Given the description of an element on the screen output the (x, y) to click on. 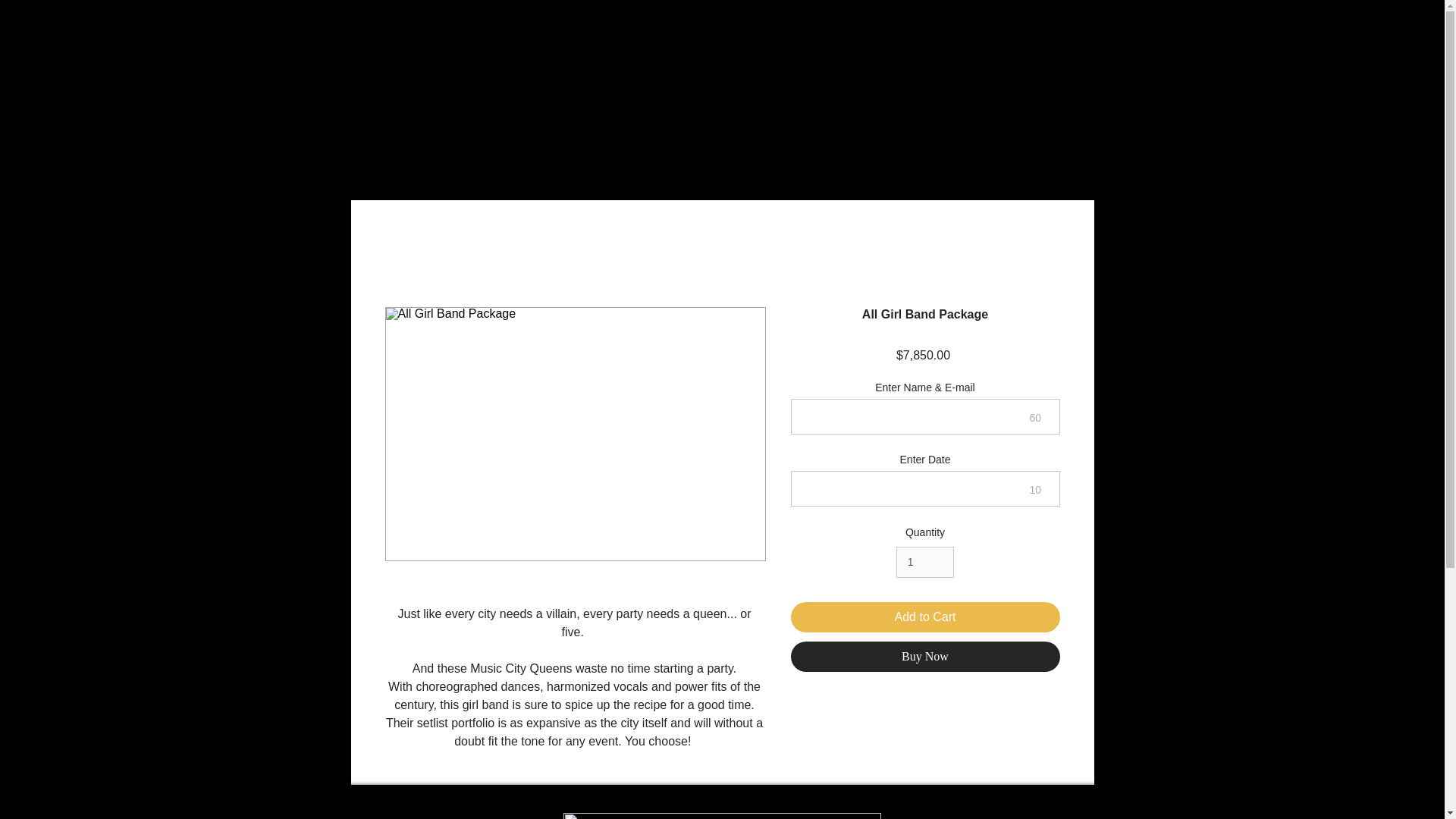
1 (924, 562)
Buy Now (924, 656)
Add to Cart (924, 616)
